Given the description of an element on the screen output the (x, y) to click on. 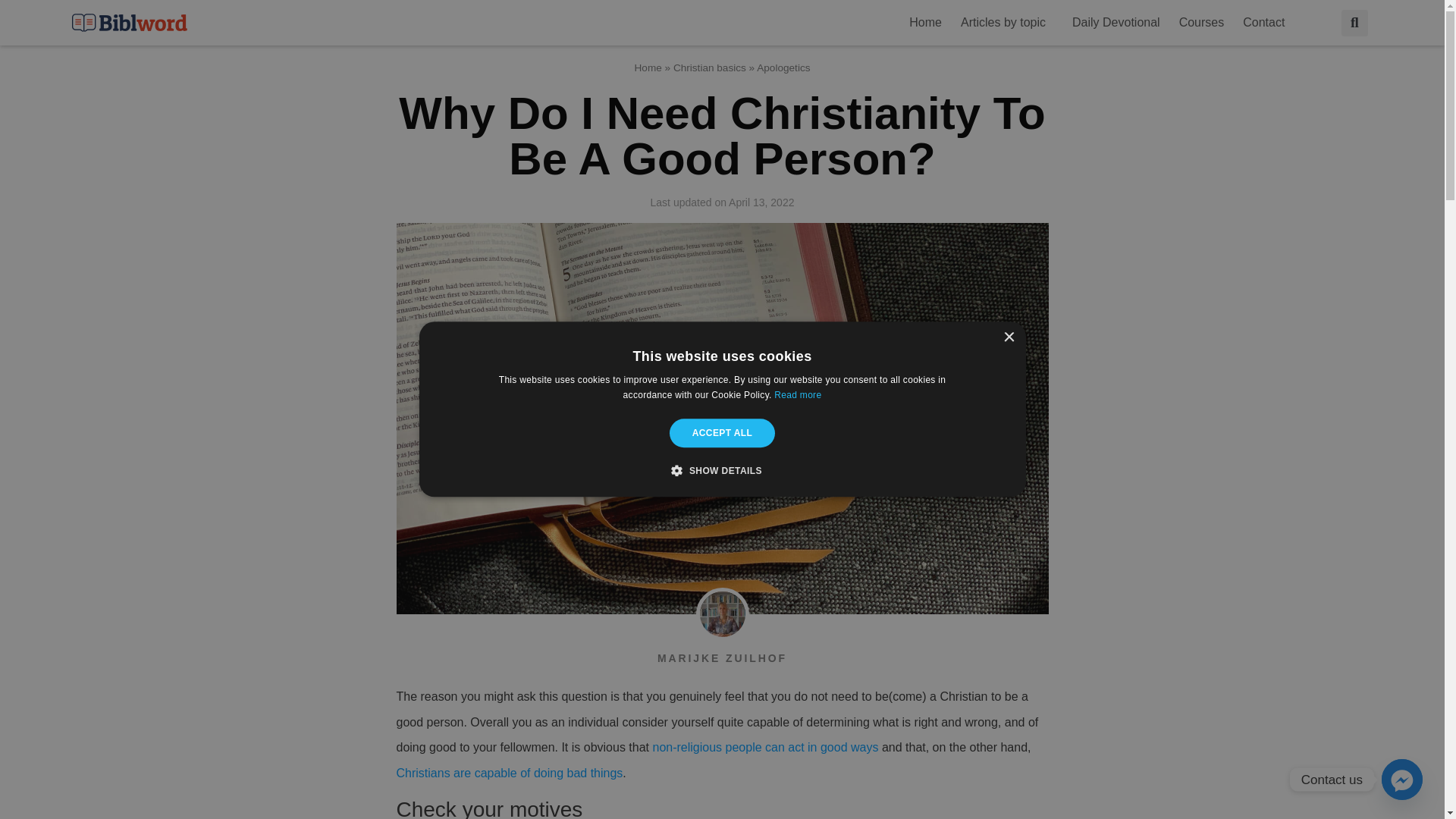
Articles by topic (1007, 22)
Home (925, 22)
Daily Devotional (1115, 22)
Courses (1201, 22)
Contact (1267, 22)
